Given the description of an element on the screen output the (x, y) to click on. 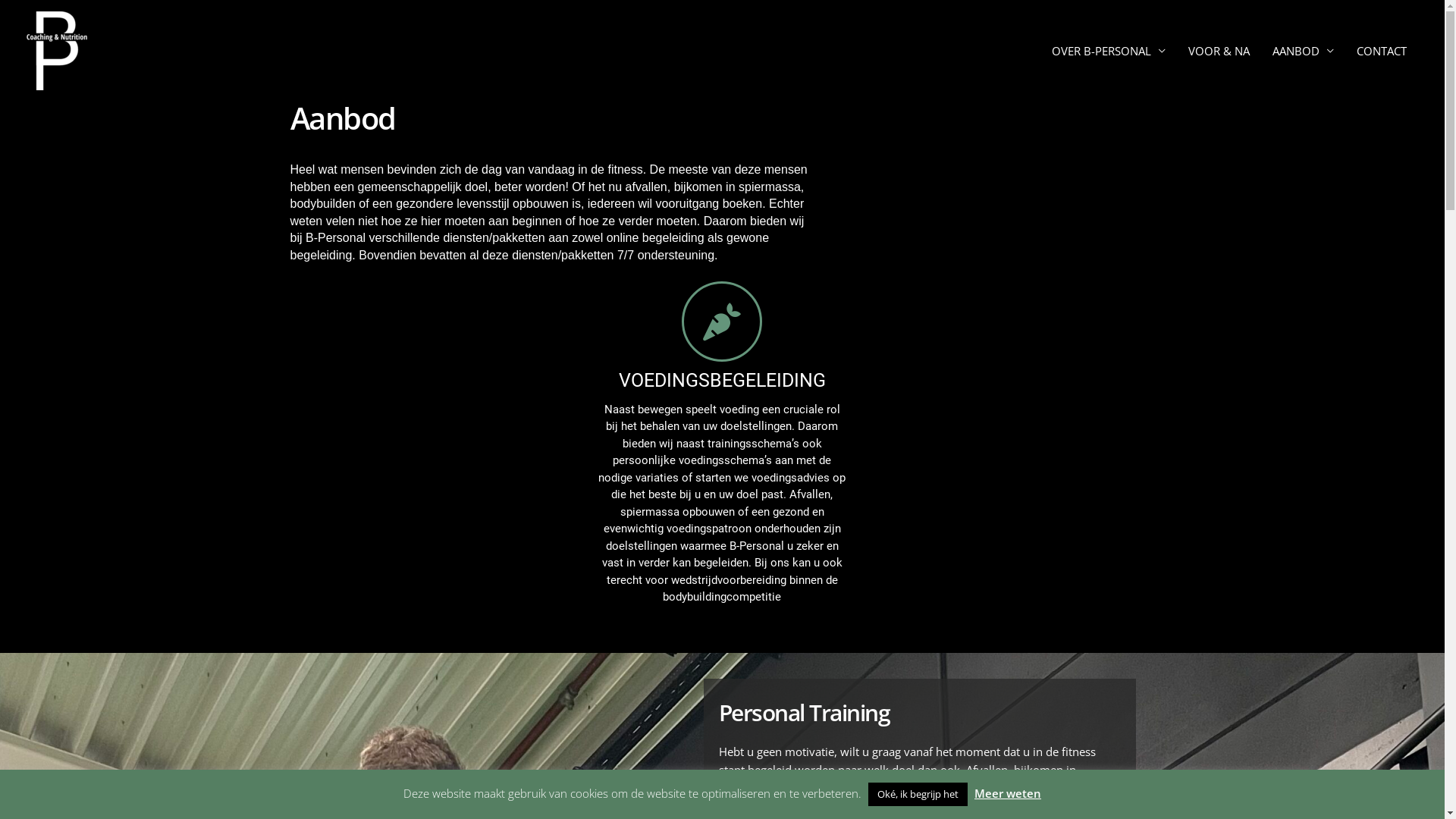
CONTACT Element type: text (1381, 50)
AANBOD Element type: text (1303, 50)
Meer weten Element type: text (1007, 792)
VOOR & NA Element type: text (1218, 50)
OVER B-PERSONAL Element type: text (1108, 50)
